Given the description of an element on the screen output the (x, y) to click on. 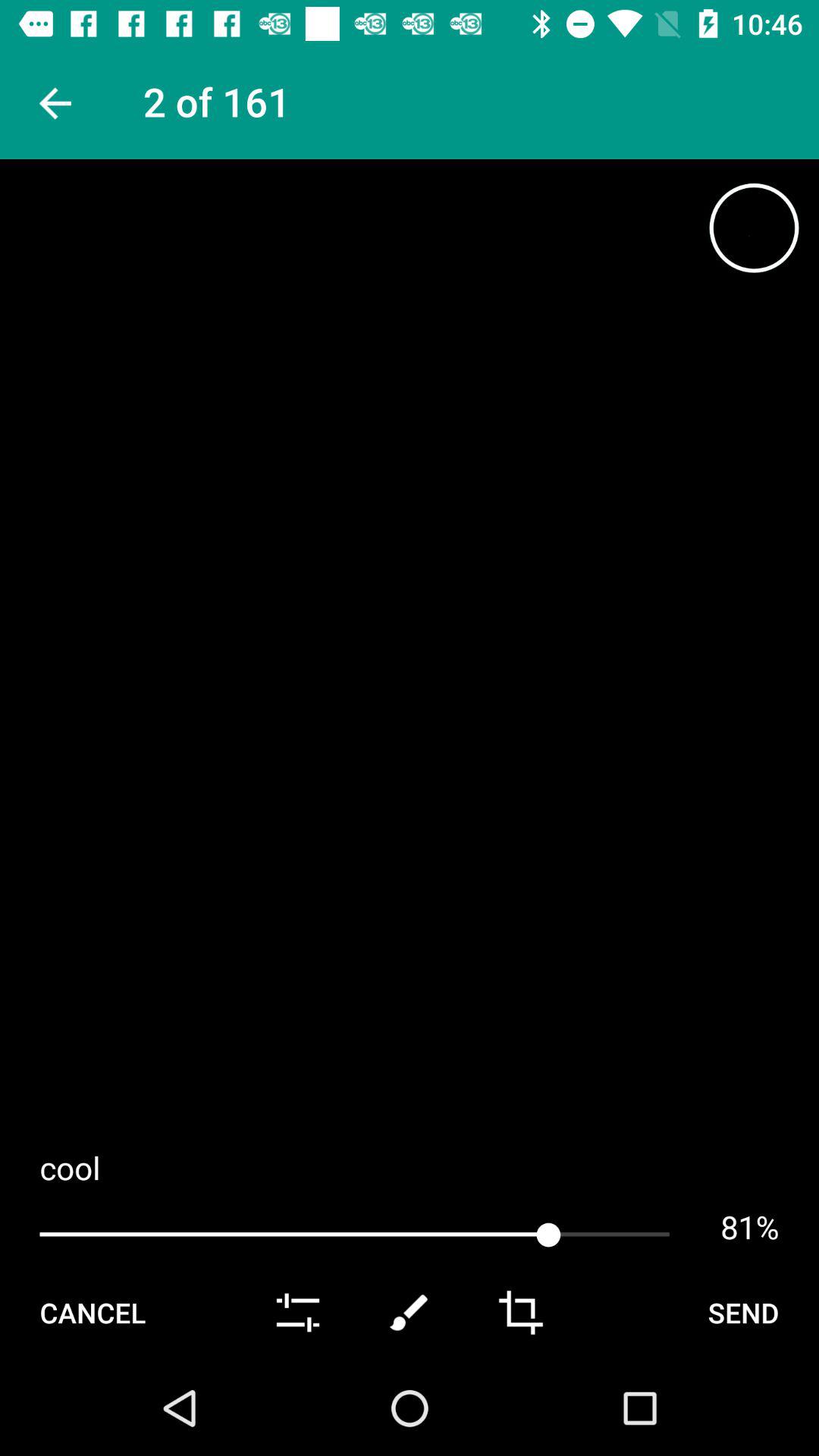
open item to the right of the cancel icon (297, 1312)
